Given the description of an element on the screen output the (x, y) to click on. 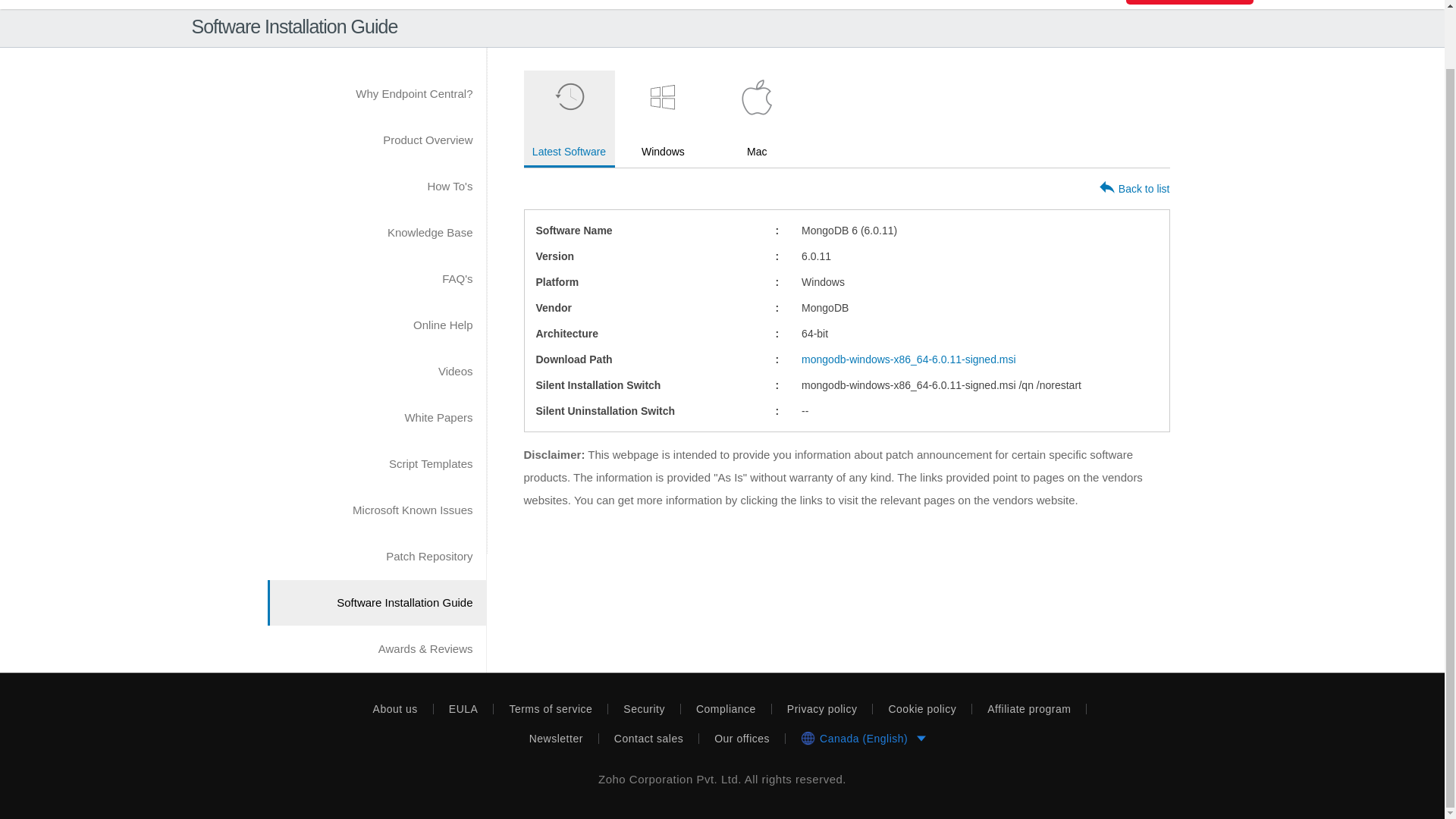
White Papers (375, 417)
Why Endpoint Central (375, 94)
Online Help (375, 325)
Microsoft Known Issues (375, 510)
Videos (375, 370)
Knowledge Base (375, 232)
Product Overview (375, 139)
How To's (375, 186)
FAQ's (375, 279)
Download ManageEngine Endpoint Central (1188, 2)
Script Templates (375, 463)
